Given the description of an element on the screen output the (x, y) to click on. 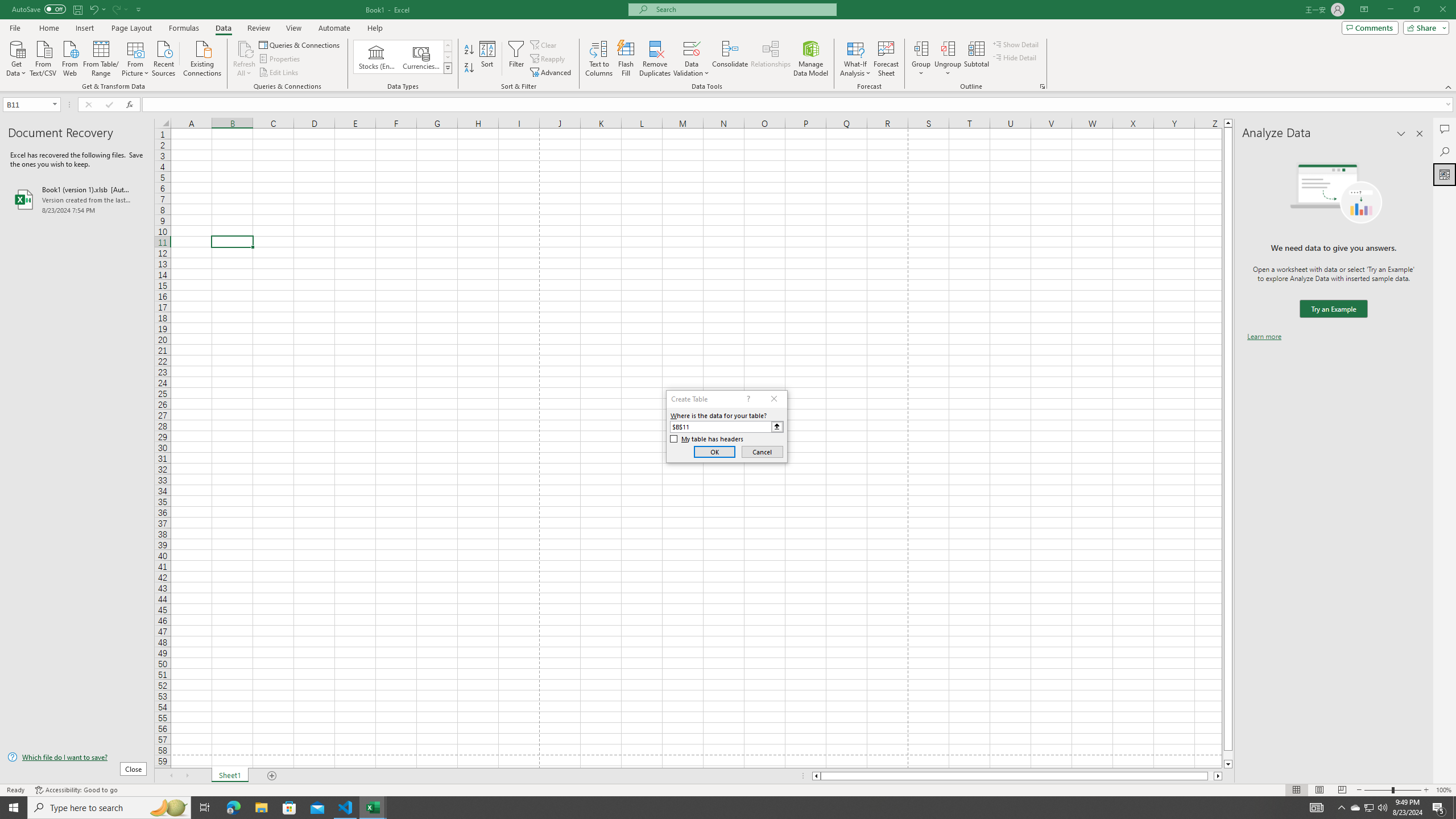
Recent Sources (163, 57)
Formula Bar (799, 104)
